Given the description of an element on the screen output the (x, y) to click on. 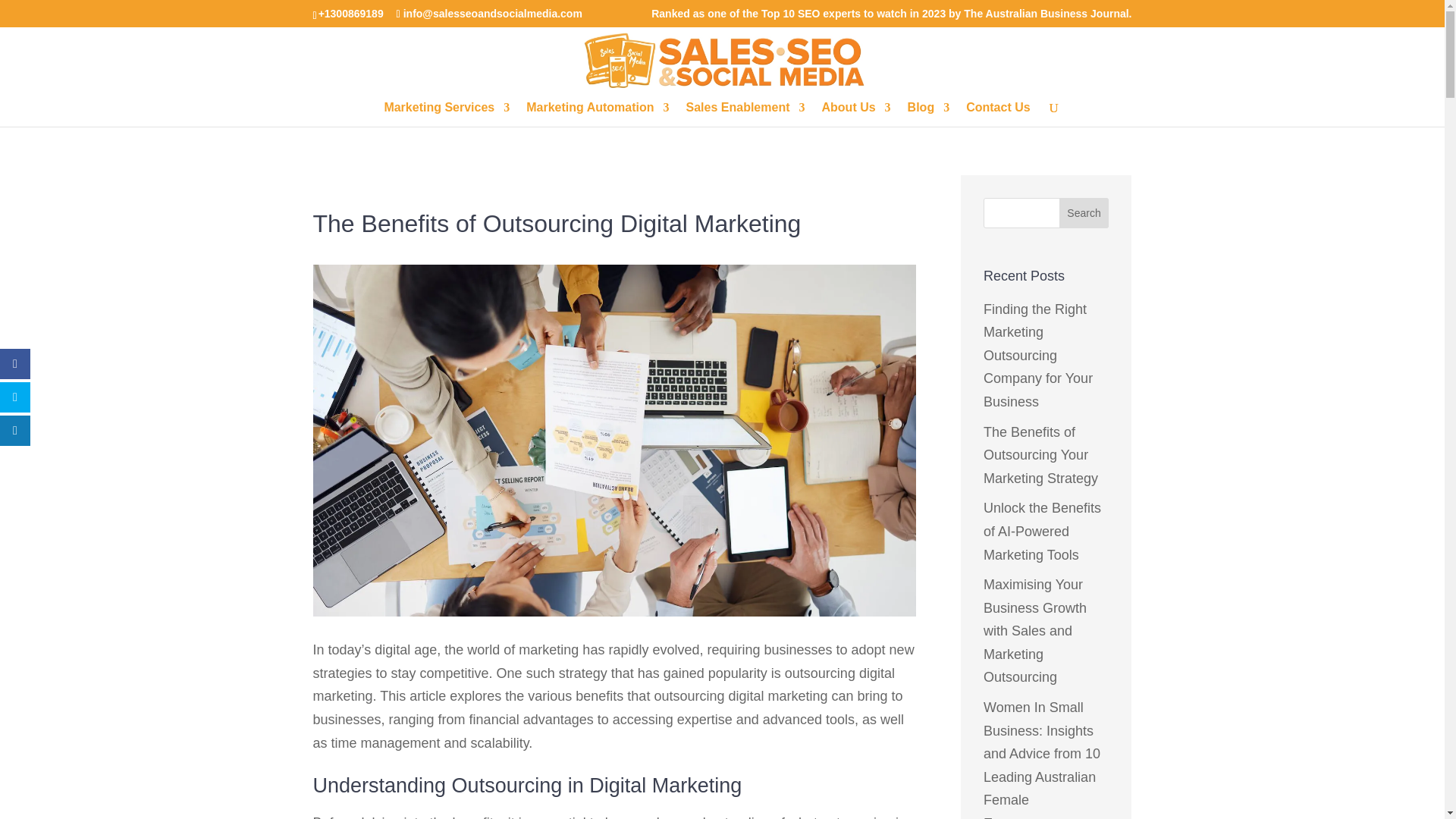
About Us (856, 114)
Sales Enablement (745, 114)
Marketing Services (446, 114)
Marketing Automation (596, 114)
Contact Us (997, 114)
Search (1084, 213)
Blog (928, 114)
